Given the description of an element on the screen output the (x, y) to click on. 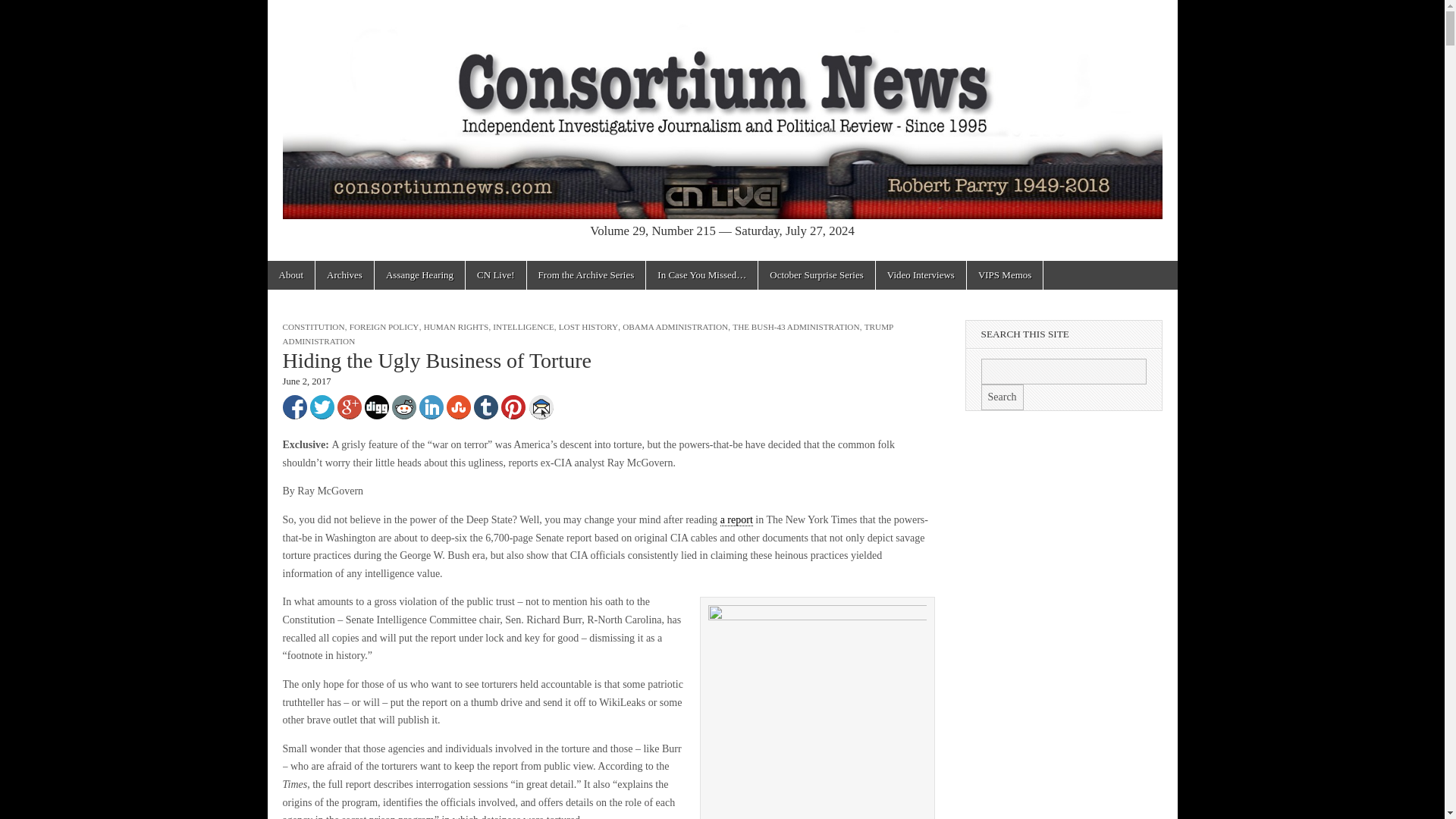
Share to Twitter (320, 406)
HUMAN RIGHTS (455, 326)
OBAMA ADMINISTRATION (675, 326)
Share to Reddit (402, 406)
Video Interviews (921, 275)
Assange Hearing (419, 275)
Share to Tumblr (485, 406)
Share to Pinterest (512, 406)
Share to StumbleUpon (457, 406)
From the Archive Series (586, 275)
INTELLIGENCE (523, 326)
CN Live! (495, 275)
LOST HISTORY (588, 326)
Archives (344, 275)
Share to LinkedIn (430, 406)
